Given the description of an element on the screen output the (x, y) to click on. 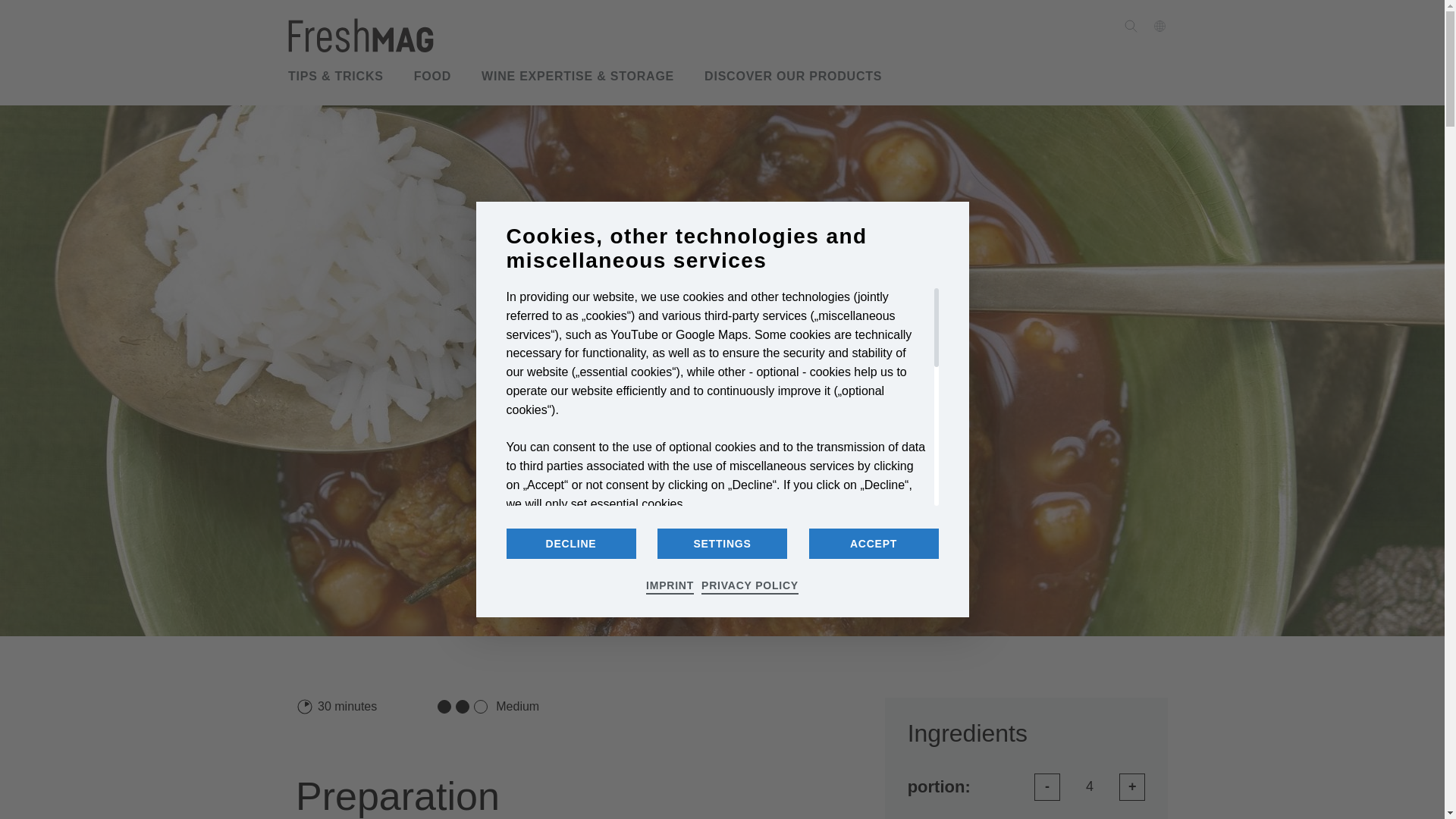
FreshMAG UK (360, 35)
4 (1089, 785)
